Given the description of an element on the screen output the (x, y) to click on. 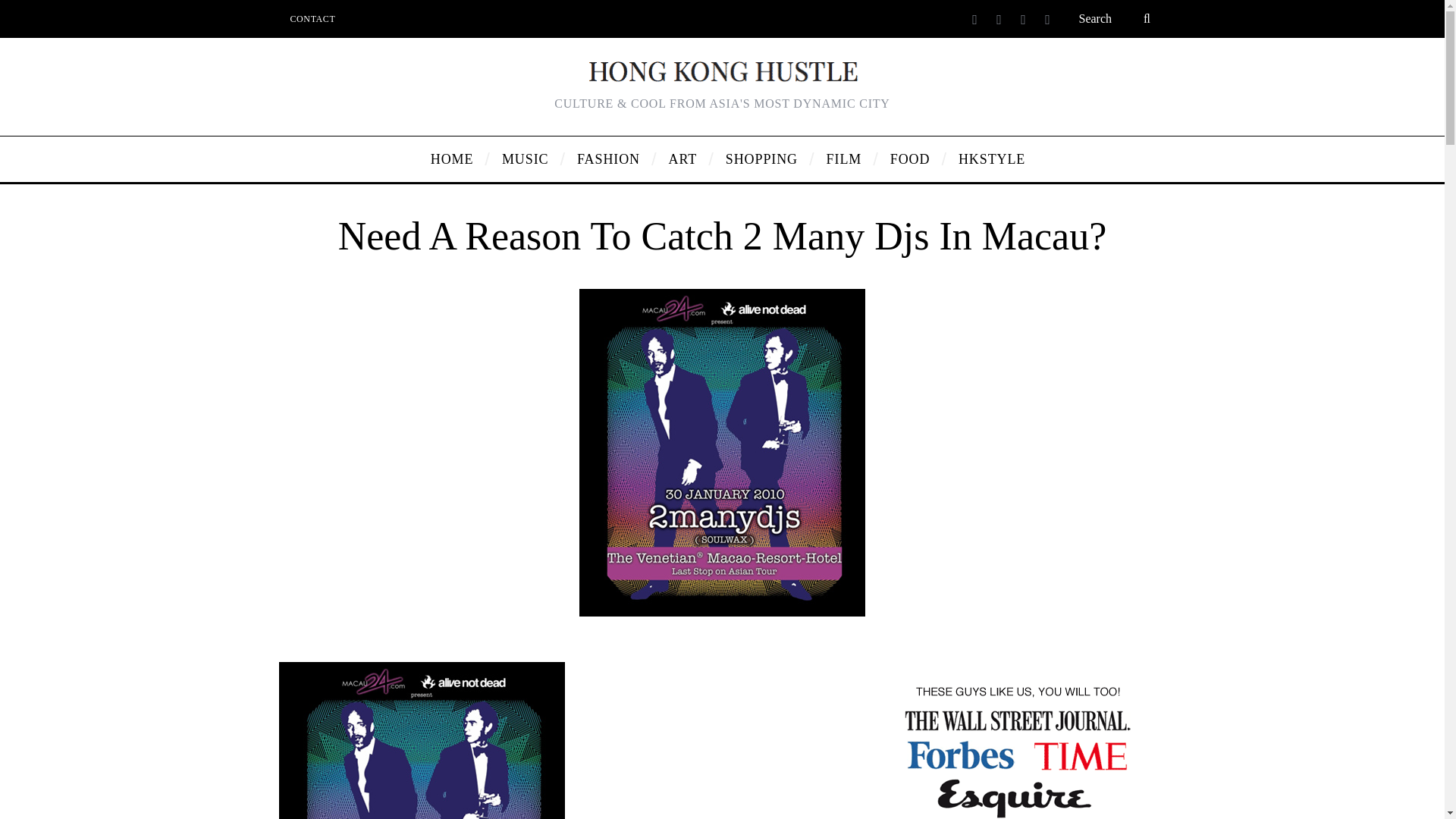
Search (1116, 18)
CONTACT (313, 18)
